Given the description of an element on the screen output the (x, y) to click on. 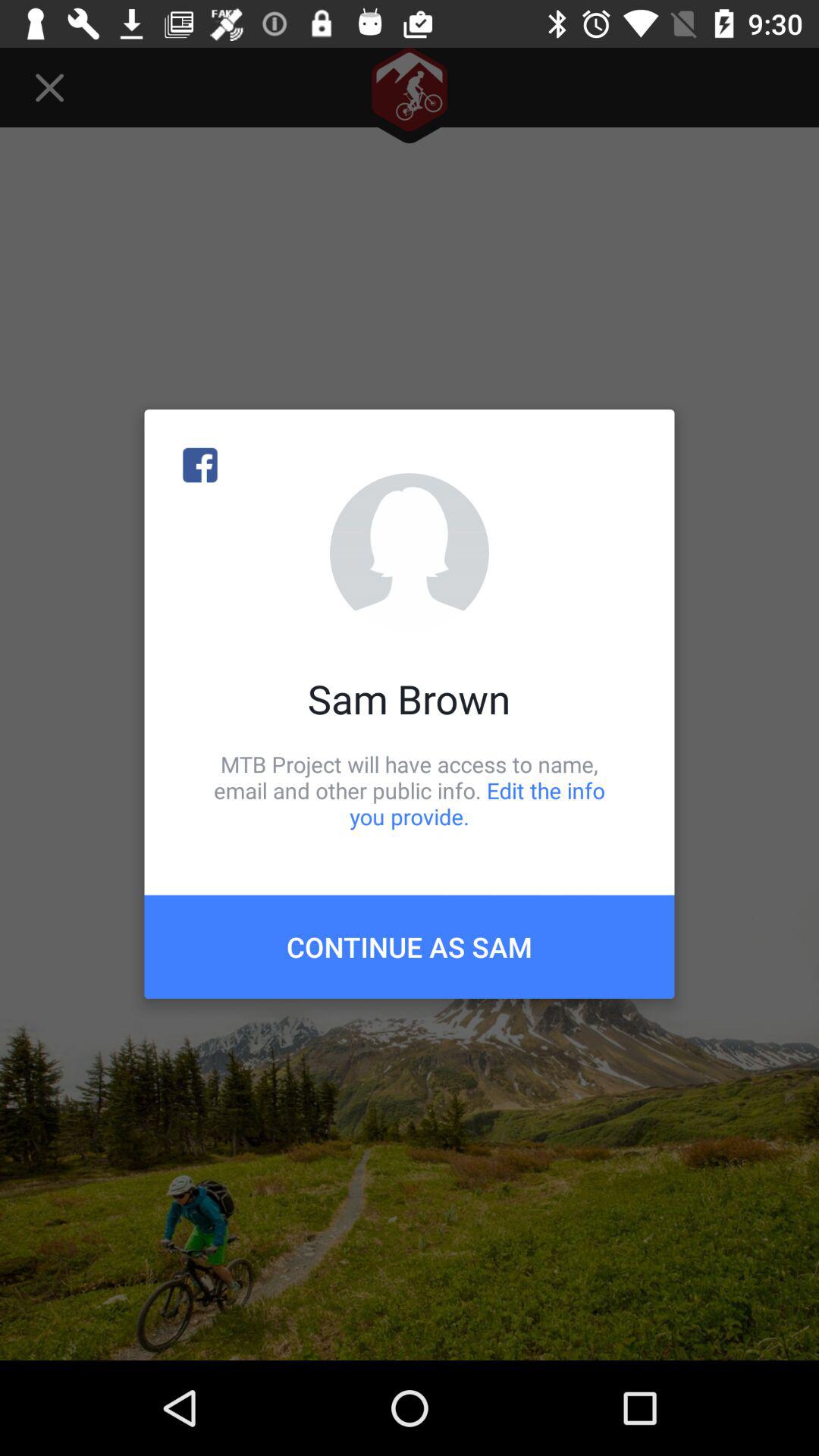
select the item below the mtb project will item (409, 946)
